Given the description of an element on the screen output the (x, y) to click on. 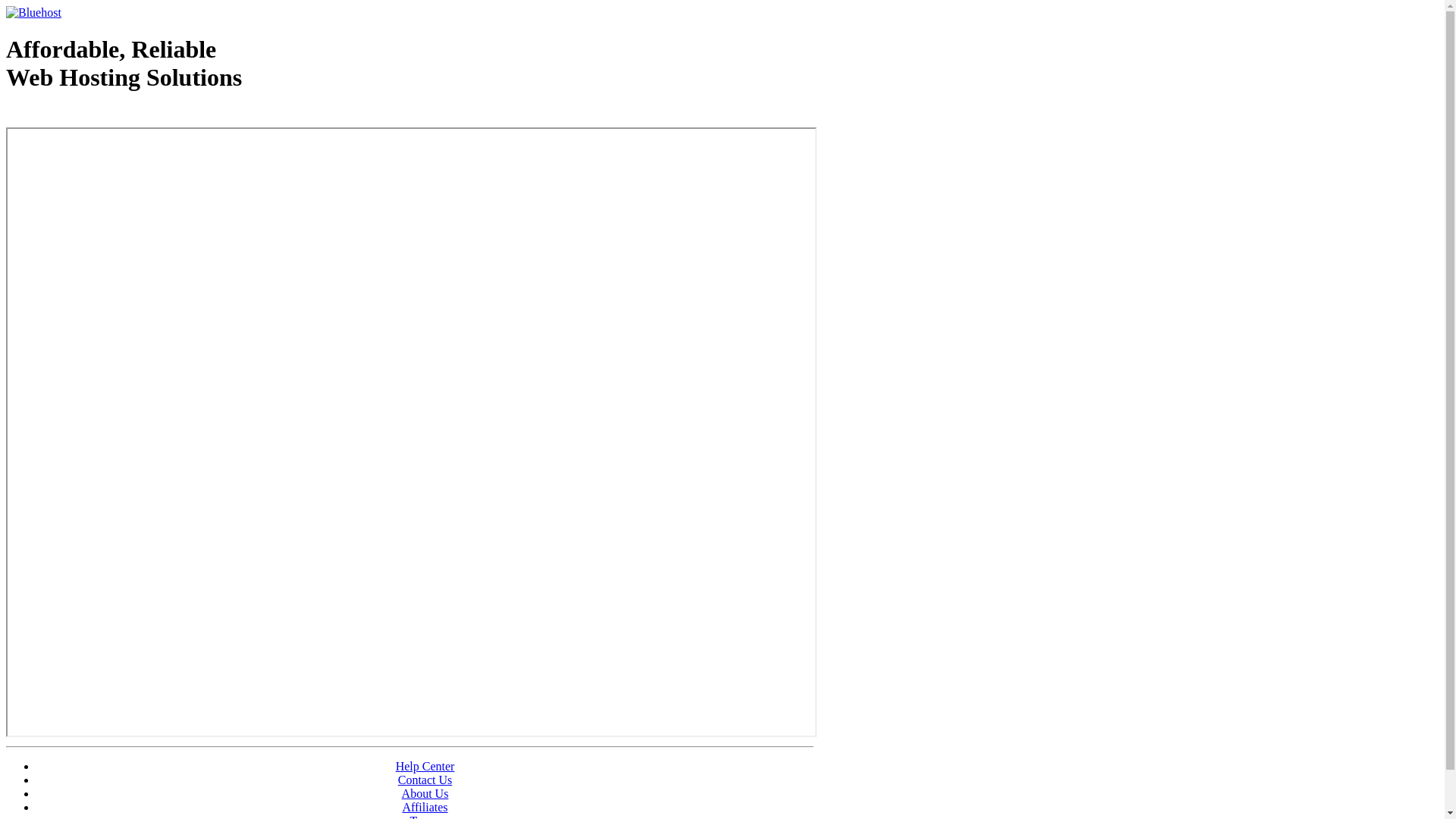
About Us Element type: text (424, 793)
Contact Us Element type: text (425, 779)
Web Hosting - courtesy of www.bluehost.com Element type: text (94, 115)
Affiliates Element type: text (424, 806)
Help Center Element type: text (425, 765)
